Given the description of an element on the screen output the (x, y) to click on. 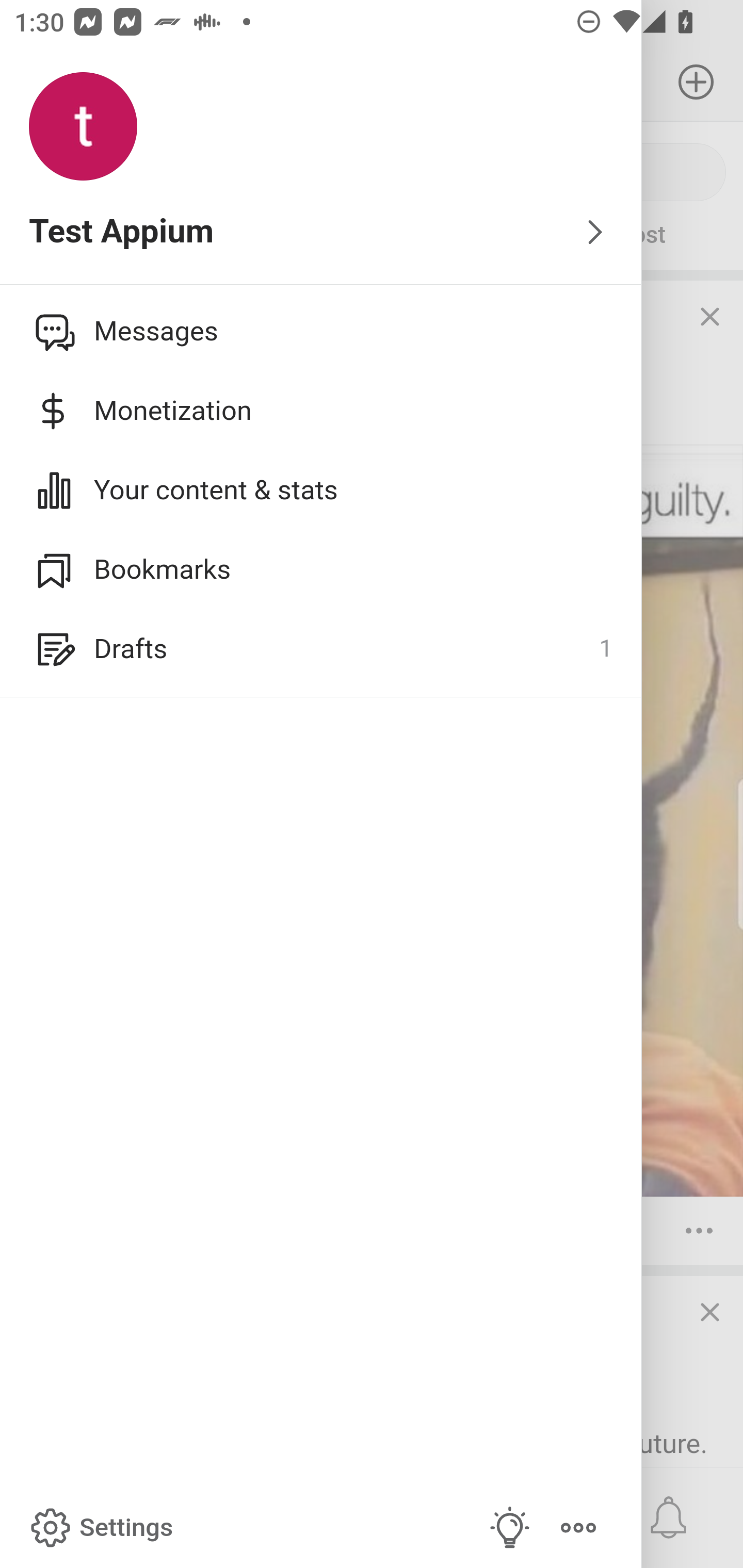
Profile photo for Test Appium (82, 126)
Test Appium (321, 232)
Messages (321, 330)
Icon for Filmography & Entertainment (50, 330)
Monetization (321, 410)
Your content & stats (321, 489)
Bookmarks (321, 568)
Drafts 1 Drafts 1 (321, 648)
1 (605, 648)
Settings (99, 1527)
More (578, 1527)
